Given the description of an element on the screen output the (x, y) to click on. 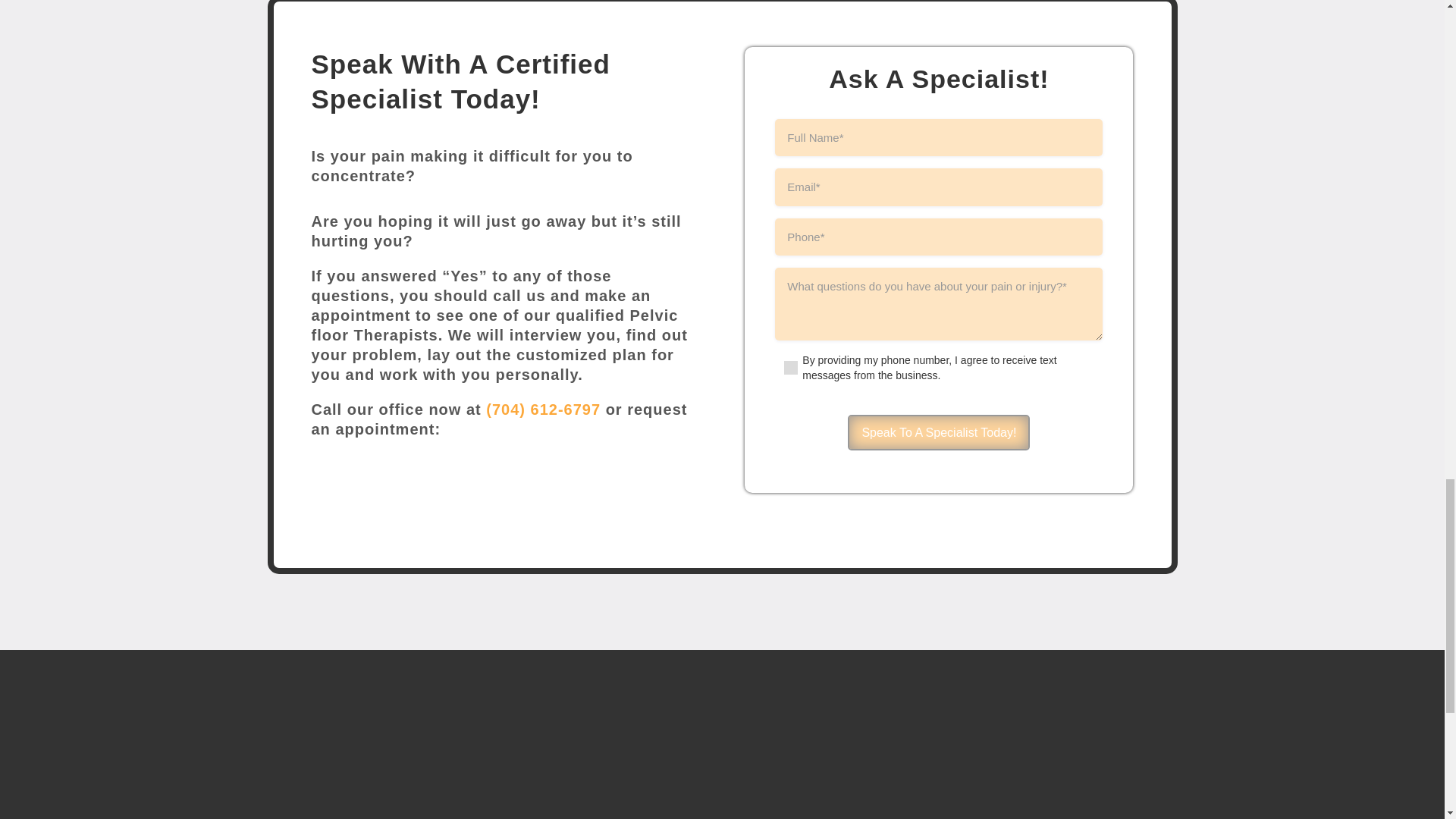
PinpointArrow (611, 494)
Speak To A Specialist Today! (938, 432)
hd (721, 732)
